Given the description of an element on the screen output the (x, y) to click on. 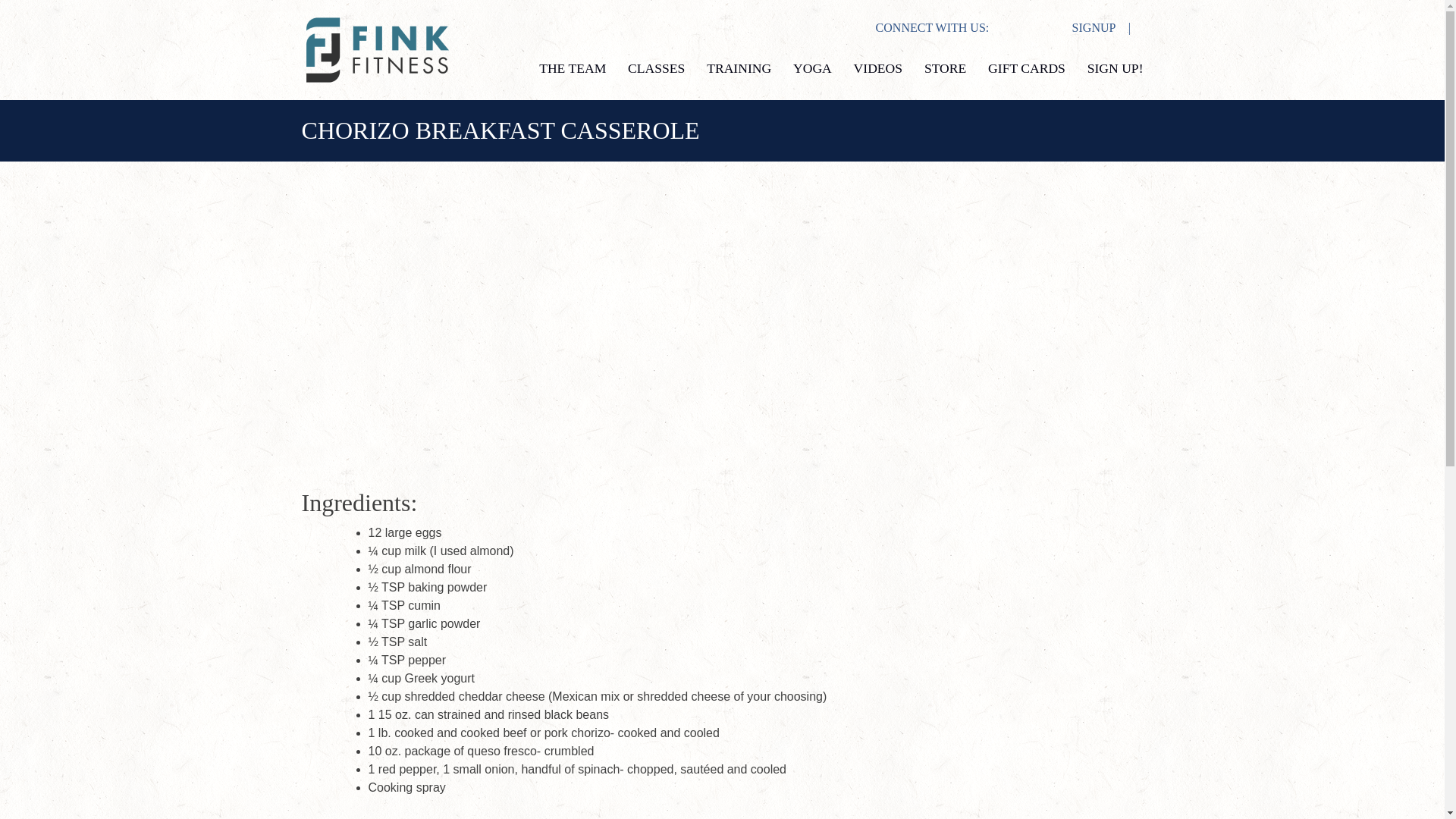
STORE (945, 69)
SIGNUP (1089, 27)
THE TEAM (571, 69)
YouTube player (721, 334)
YOGA (812, 69)
GIFT CARDS (1026, 69)
SIGN UP! (1114, 69)
CLASSES (655, 69)
TRAINING (738, 69)
VIDEOS (877, 69)
